Given the description of an element on the screen output the (x, y) to click on. 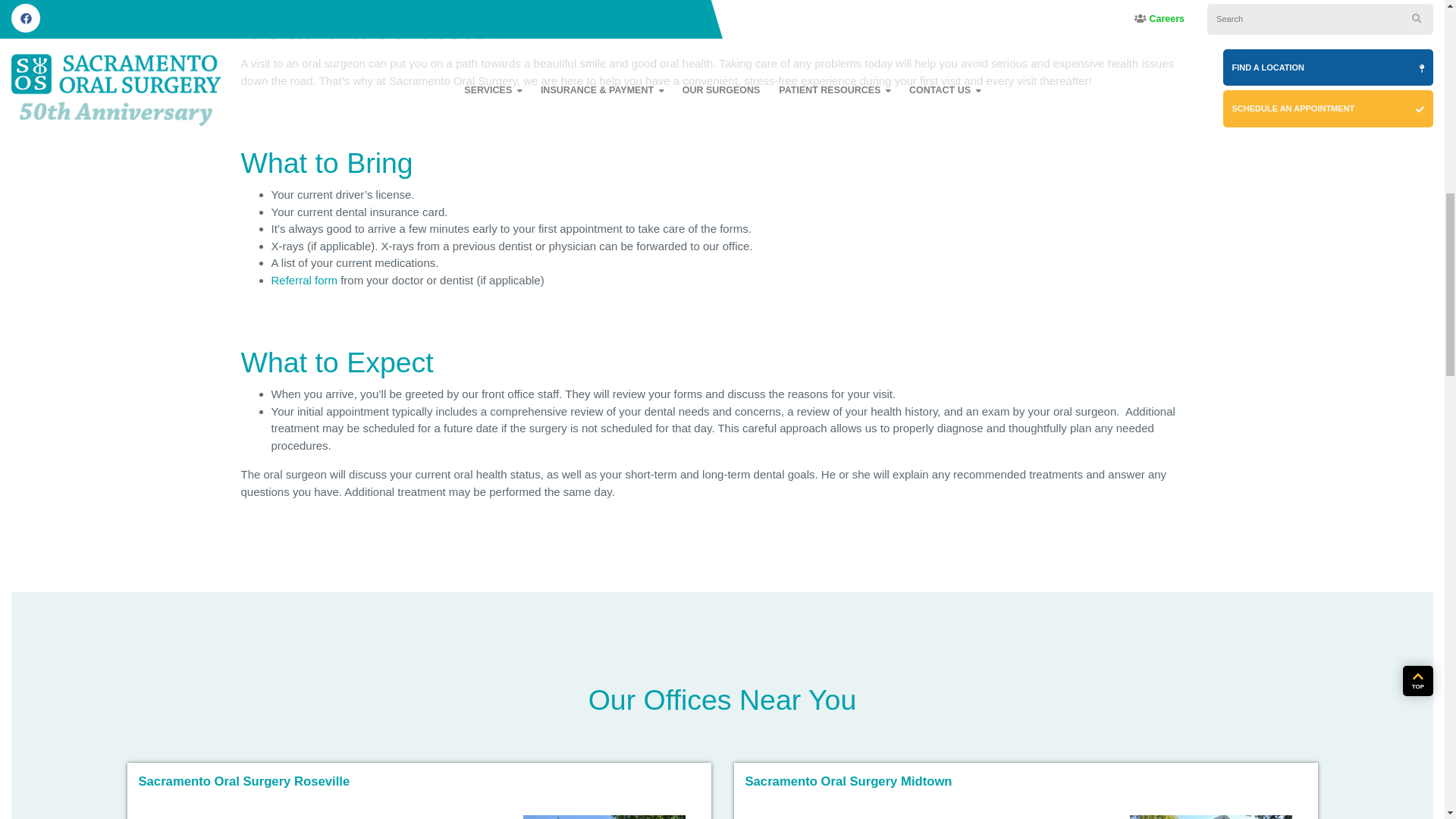
Referral form (303, 279)
